Given the description of an element on the screen output the (x, y) to click on. 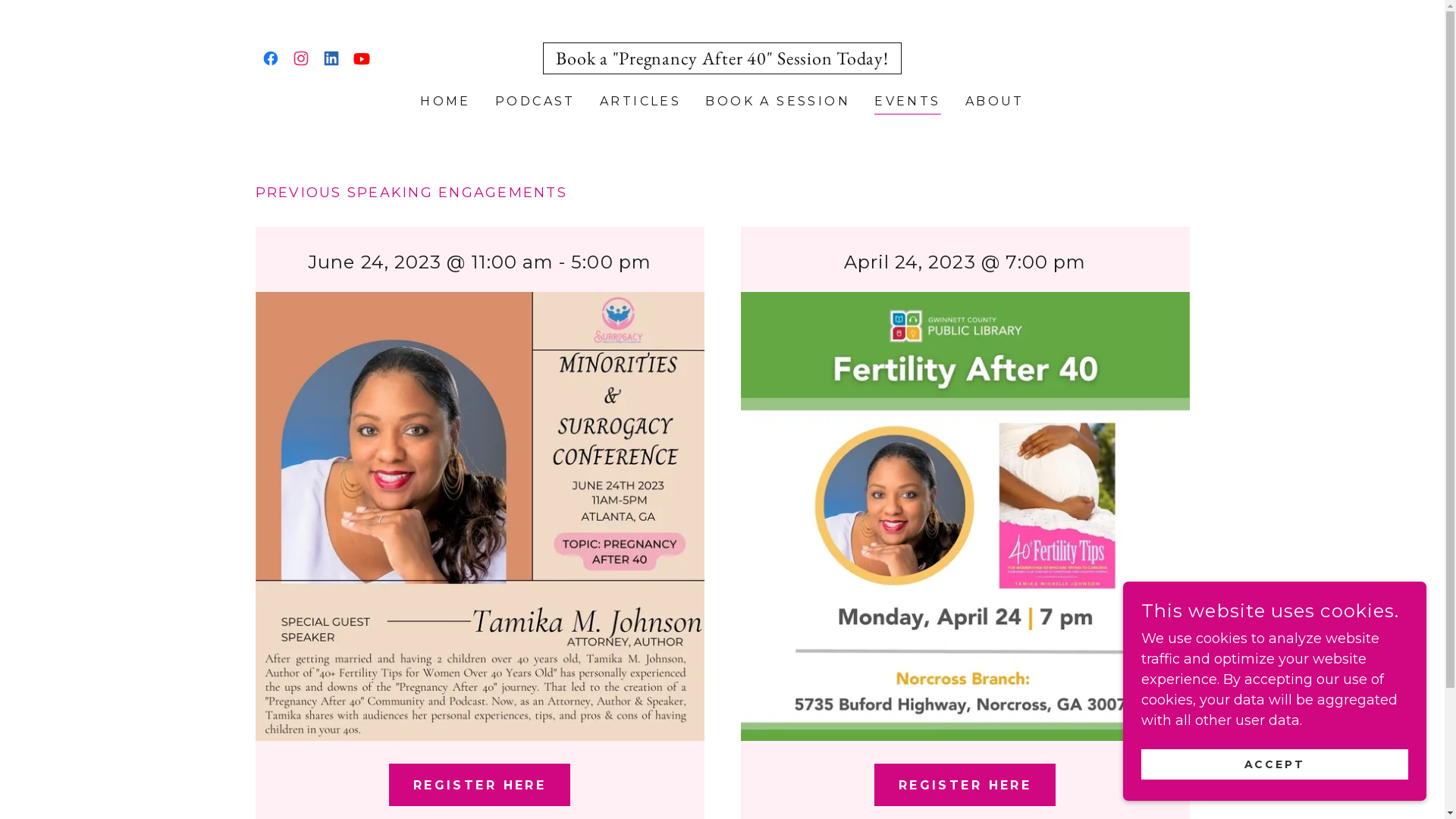
Book a "Pregnancy After 40" Session Today! Element type: text (721, 59)
REGISTER HERE Element type: text (965, 784)
BOOK A SESSION Element type: text (777, 101)
PODCAST Element type: text (535, 101)
REGISTER HERE Element type: text (480, 784)
ACCEPT Element type: text (1274, 764)
ABOUT Element type: text (994, 101)
ARTICLES Element type: text (640, 101)
HOME Element type: text (445, 101)
EVENTS Element type: text (907, 103)
